Given the description of an element on the screen output the (x, y) to click on. 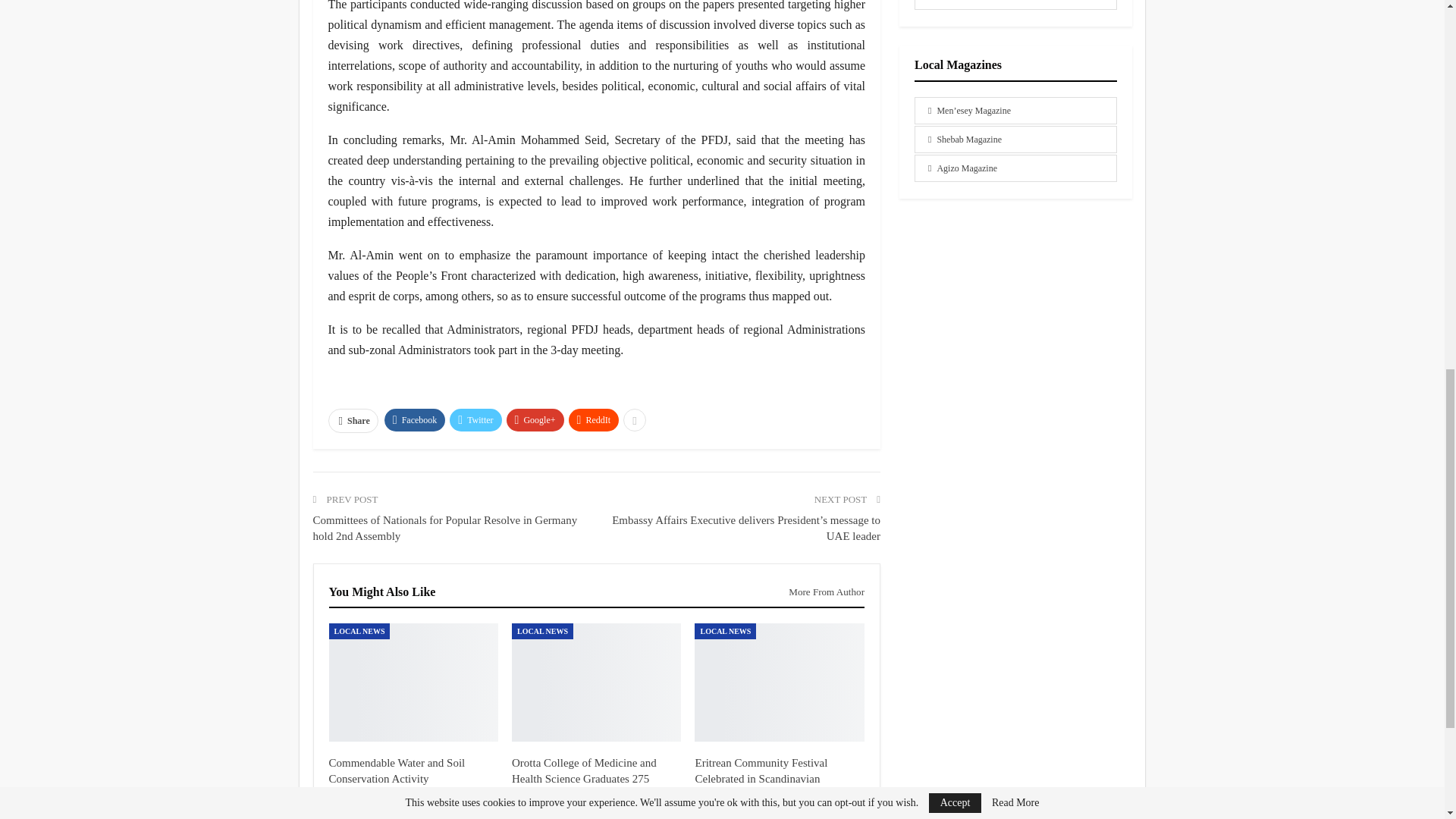
Commendable Water and Soil Conservation Activity (413, 682)
Commendable Water and Soil Conservation Activity (397, 770)
